Given the description of an element on the screen output the (x, y) to click on. 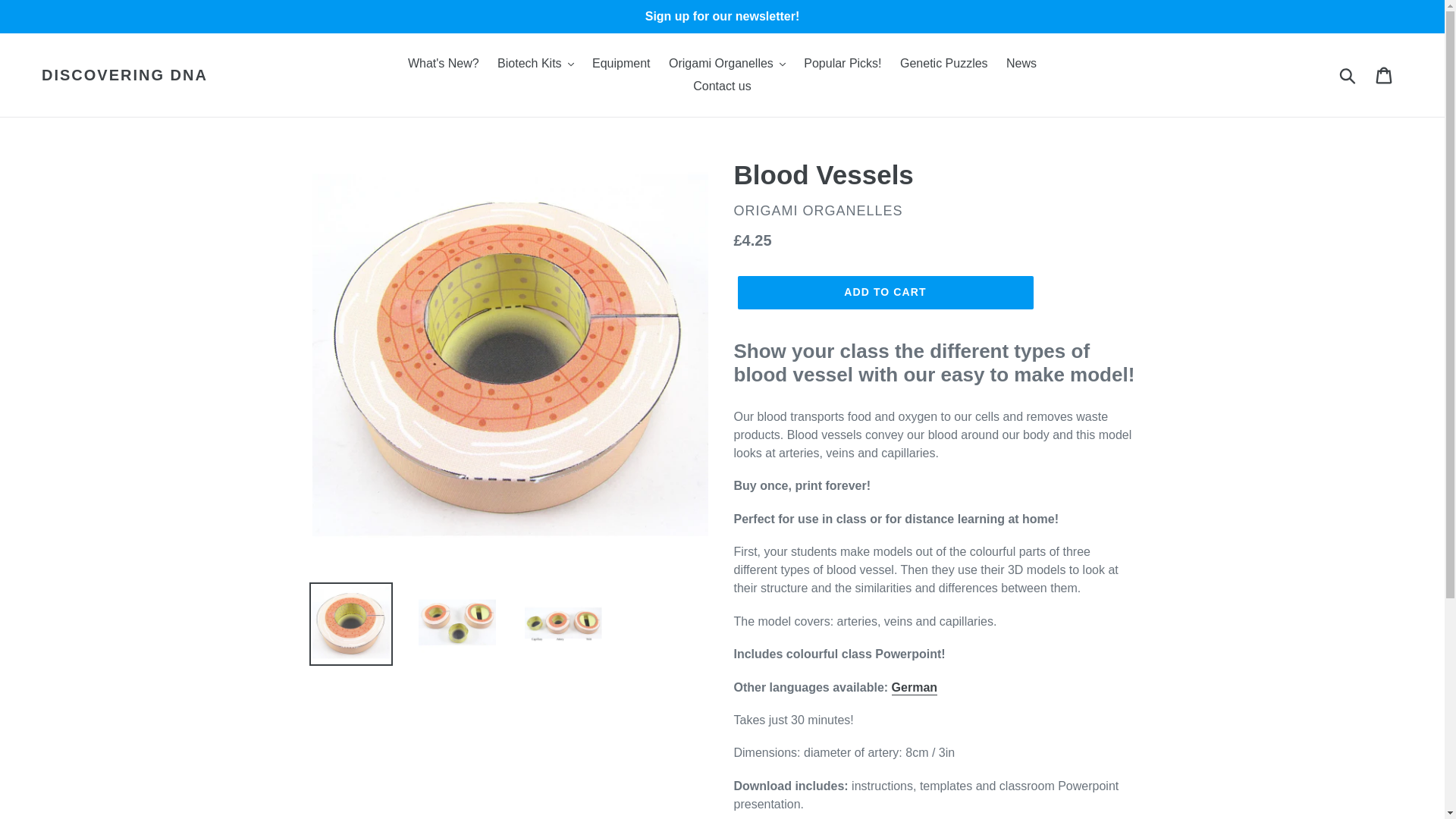
Equipment (621, 63)
Contact us (721, 86)
Genetic Puzzles (943, 63)
Cart (1385, 74)
blood vessels origami organelle german (914, 687)
Submit (1348, 74)
DISCOVERING DNA (125, 75)
Popular Picks! (842, 63)
What's New? (443, 63)
News (1020, 63)
